Given the description of an element on the screen output the (x, y) to click on. 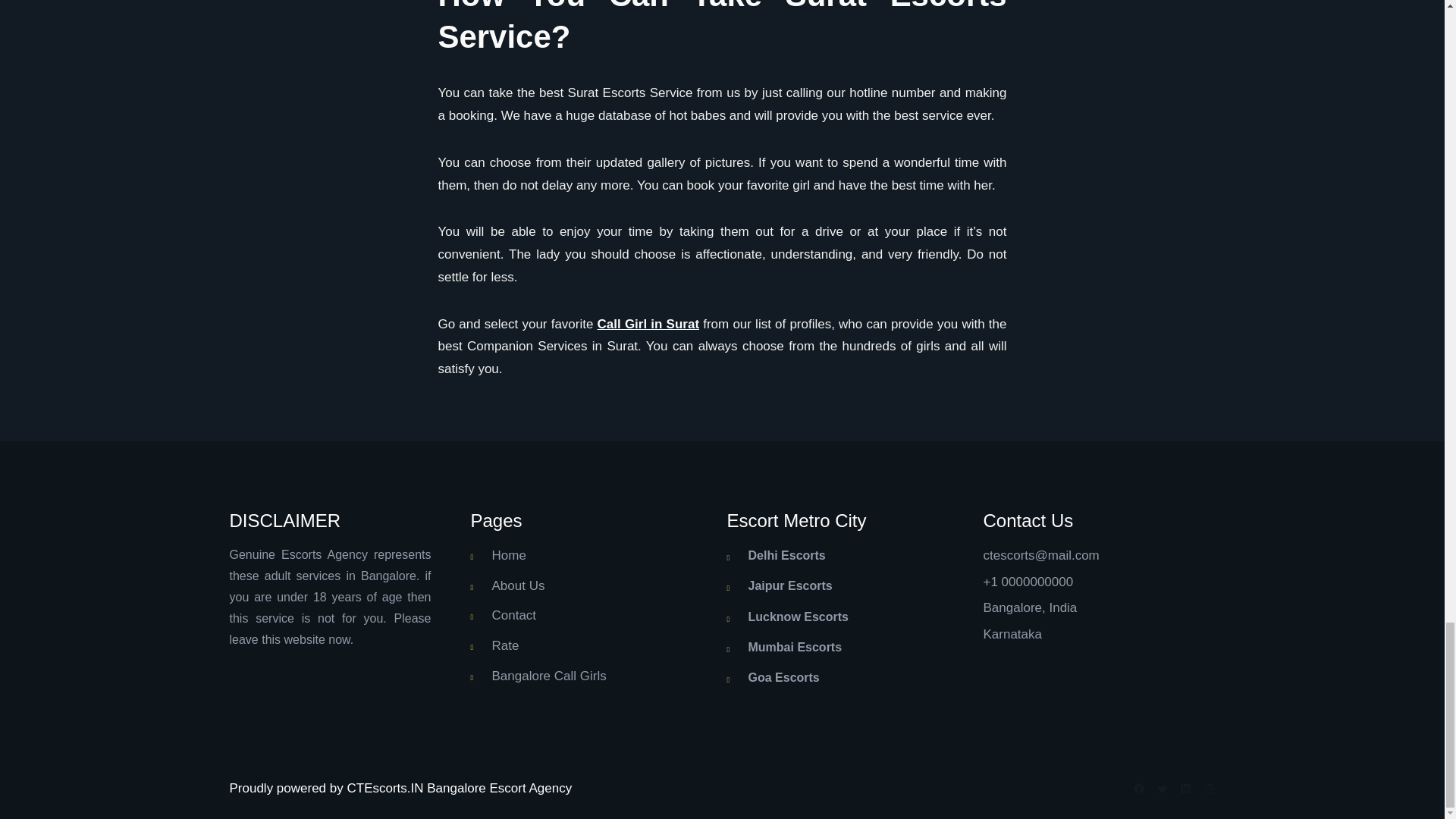
Call Girl in Surat (648, 323)
Jaipur Escorts (789, 585)
Bangalore Escort Agency (499, 788)
Instagram (1208, 788)
Mumbai Escorts (794, 646)
Goa Escorts (783, 676)
Twitter (1161, 788)
Facebook (1138, 788)
Lucknow Escorts (797, 616)
LinkedIn (1185, 788)
